Given the description of an element on the screen output the (x, y) to click on. 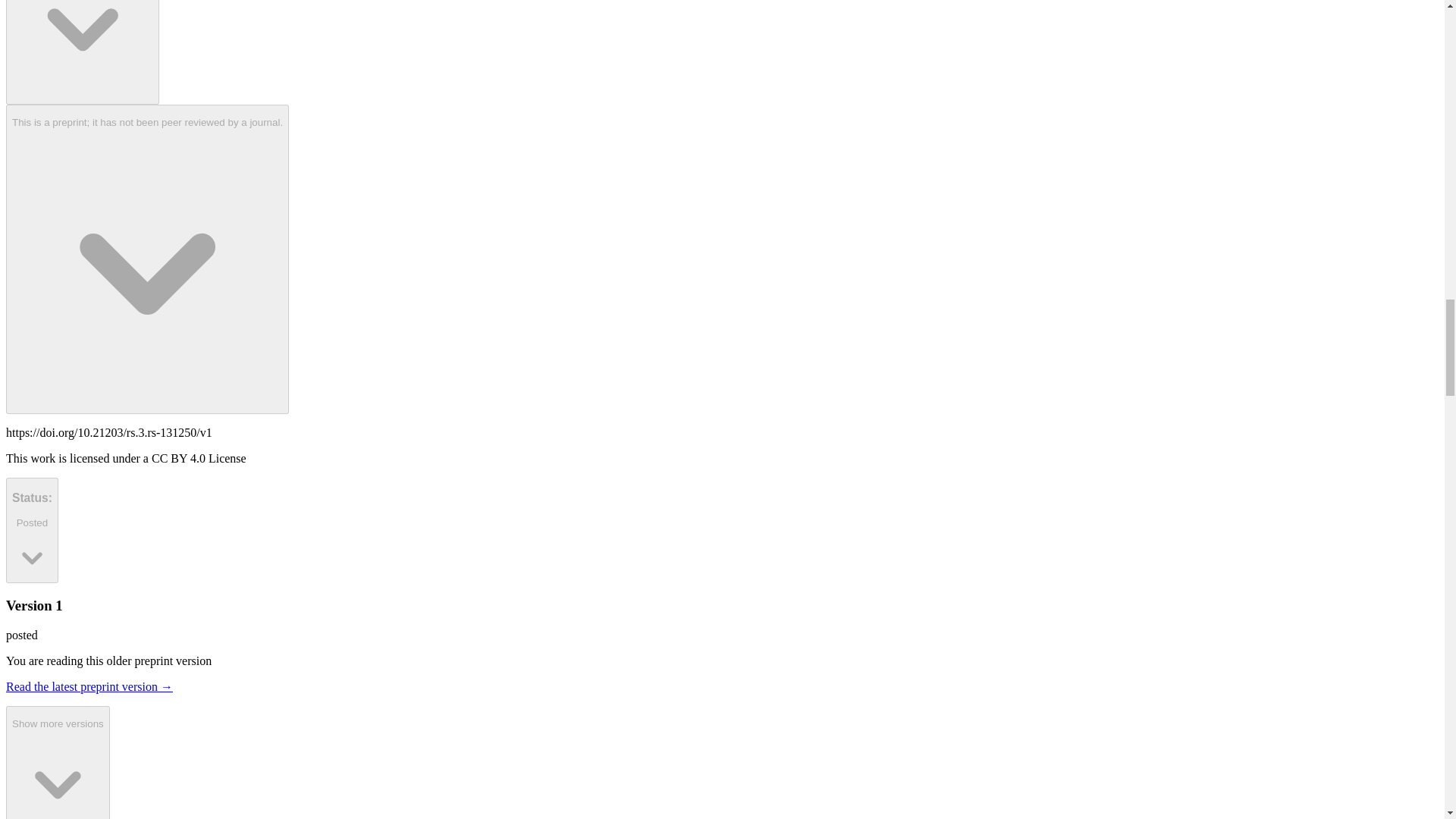
Ayano Kuwasawa, Kotaro Nihei (81, 52)
Show more versions (57, 762)
